Given the description of an element on the screen output the (x, y) to click on. 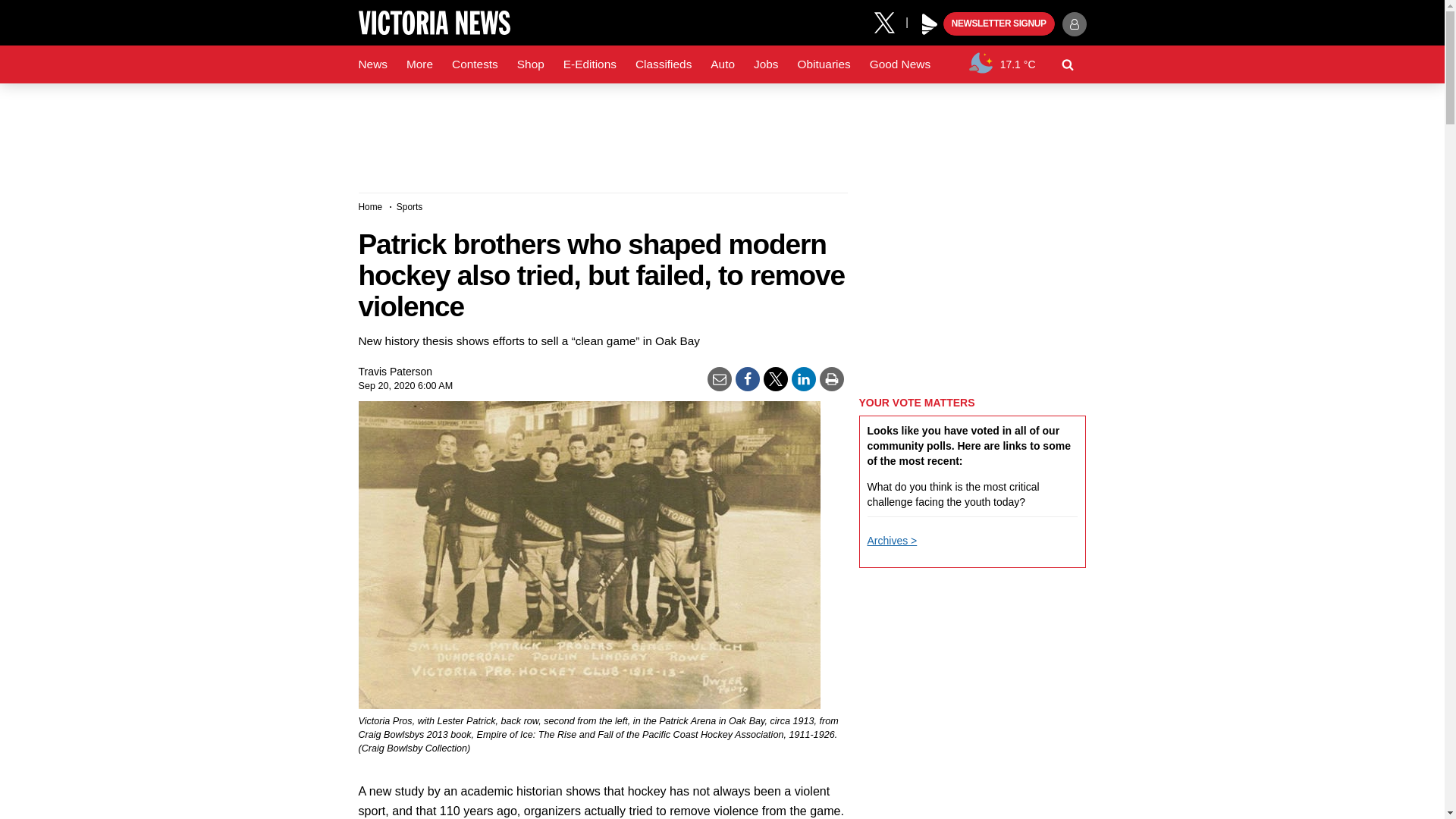
News (372, 64)
3rd party ad content (721, 131)
NEWSLETTER SIGNUP (998, 24)
Black Press Media (929, 24)
X (889, 21)
Play (929, 24)
